Given the description of an element on the screen output the (x, y) to click on. 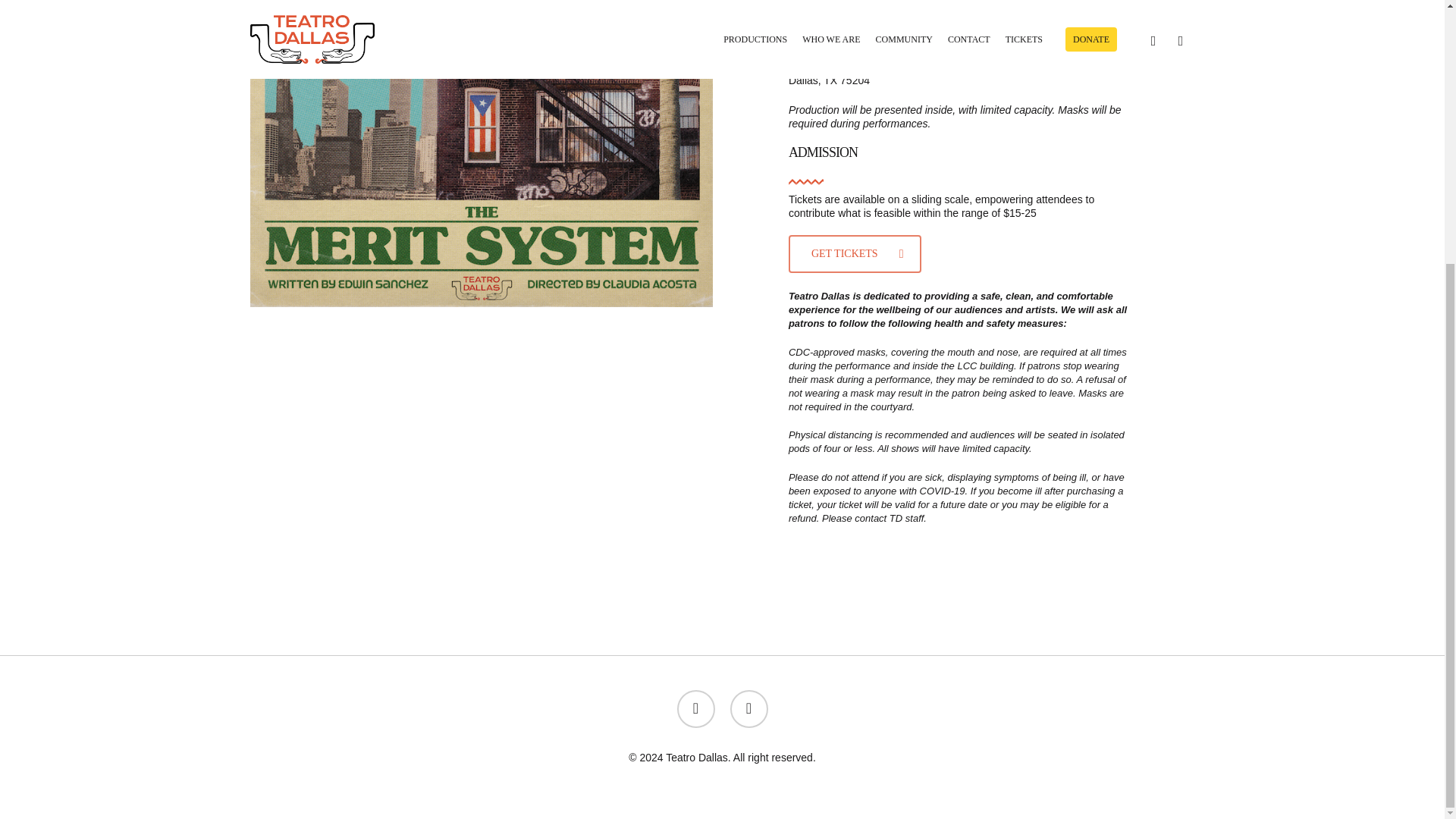
GET TICKETS (855, 253)
instagram (748, 709)
facebook (695, 709)
